Given the description of an element on the screen output the (x, y) to click on. 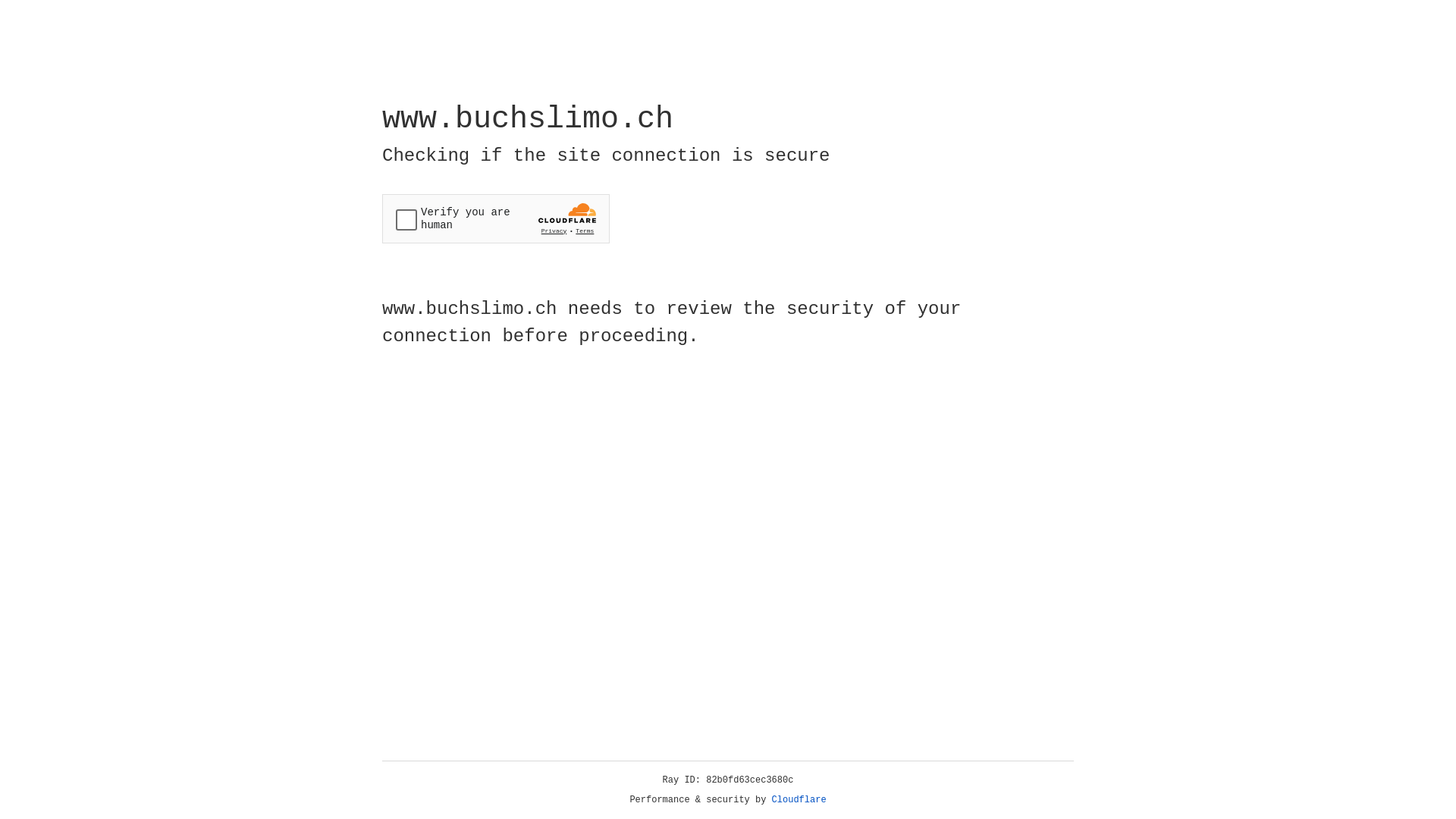
Cloudflare Element type: text (798, 799)
Widget containing a Cloudflare security challenge Element type: hover (495, 218)
